Given the description of an element on the screen output the (x, y) to click on. 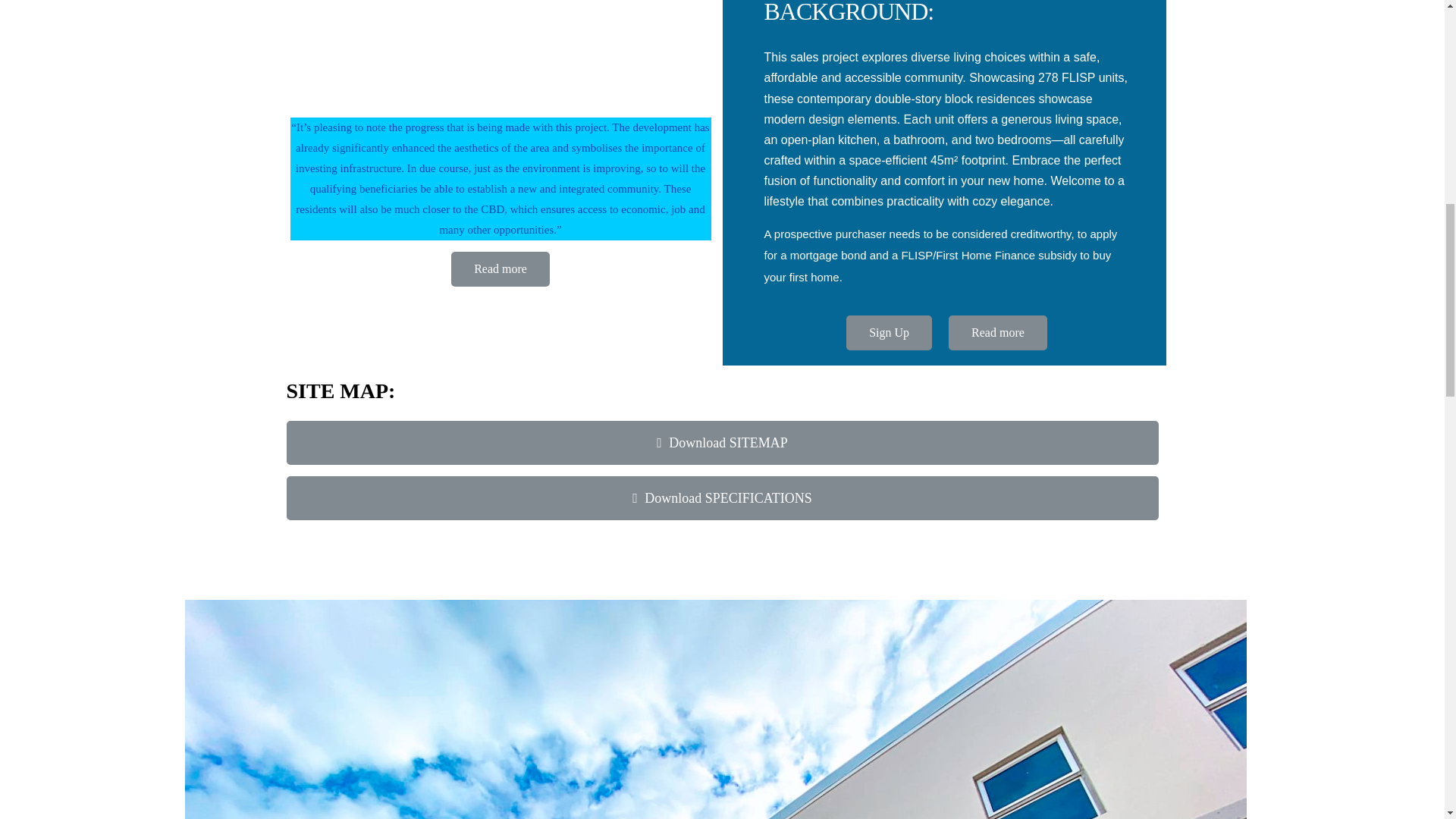
Download SPECIFICATIONS (722, 497)
Download SITEMAP (722, 442)
Read more (500, 268)
Sign Up (888, 332)
Read more (997, 332)
